Given the description of an element on the screen output the (x, y) to click on. 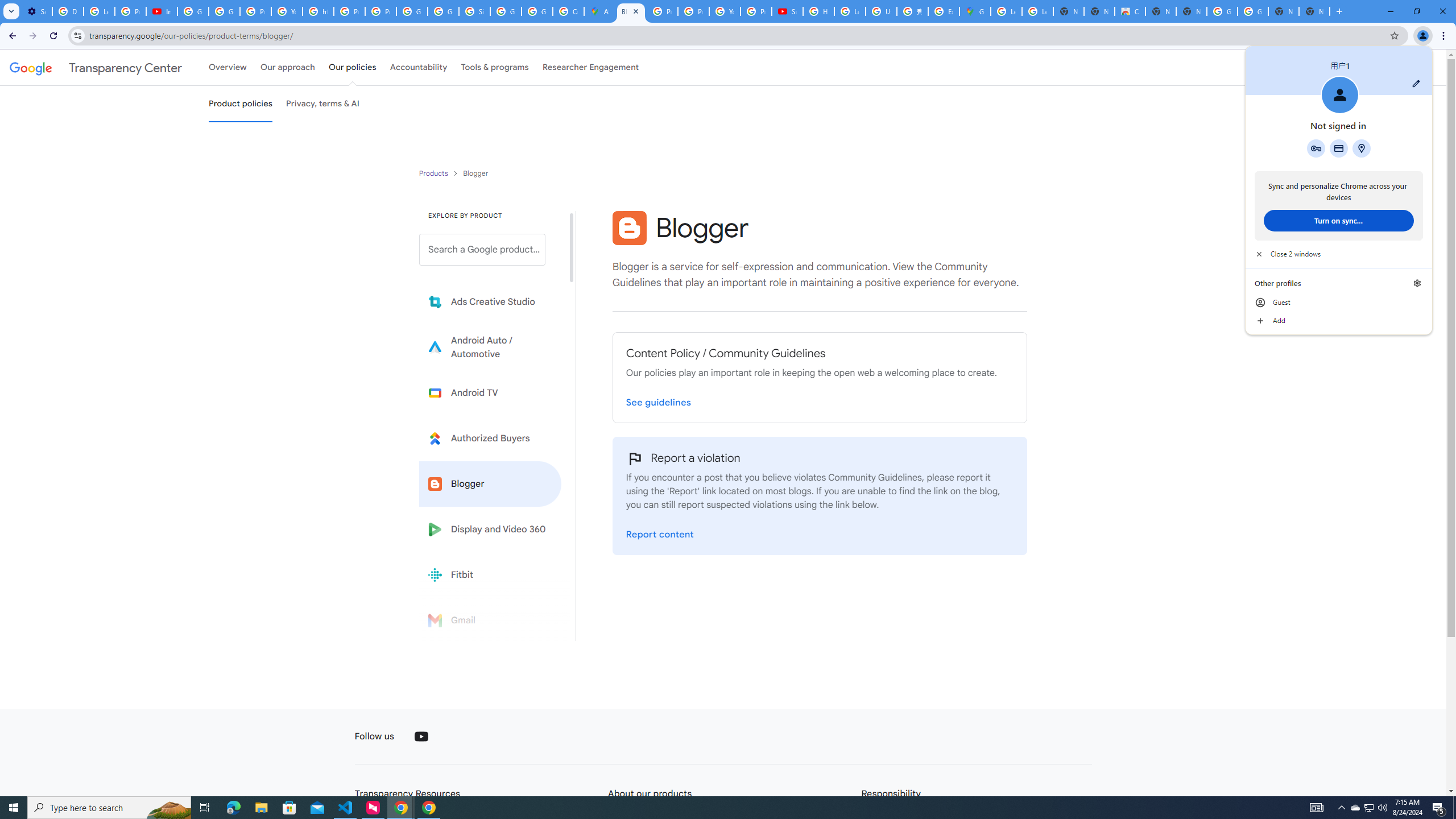
Google Chrome - 2 running windows (400, 807)
Notification Chevron (1341, 807)
Start (13, 807)
Learn more about Authorized Buyers (490, 438)
Learn how to find your photos - Google Photos Help (98, 11)
Display and Video 360 (490, 529)
Running applications (717, 807)
Learn more about Android Auto (490, 347)
Search a Google product from below list. (481, 249)
Introduction | Google Privacy Policy - YouTube (161, 11)
Researcher Engagement (590, 67)
